Given the description of an element on the screen output the (x, y) to click on. 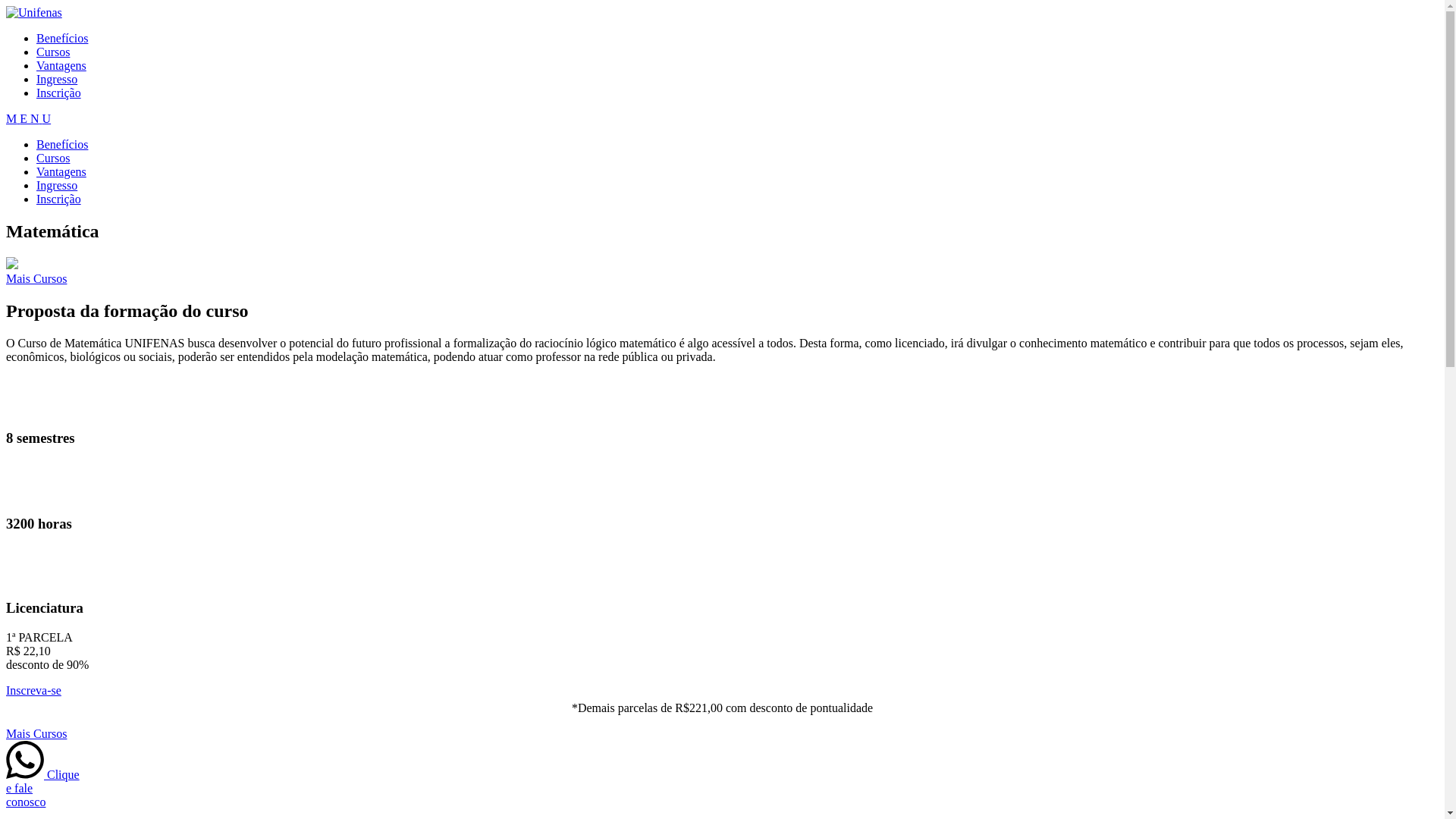
Ingresso Element type: text (56, 78)
Vantagens Element type: text (61, 171)
M E N U Element type: text (28, 118)
Mais Cursos Element type: text (36, 278)
Mais Cursos Element type: text (36, 733)
Ingresso Element type: text (56, 184)
Cursos Element type: text (52, 157)
Inscreva-se Element type: text (33, 690)
Vantagens Element type: text (61, 65)
Clique
e fale
conosco Element type: text (42, 788)
Cursos Element type: text (52, 51)
